Given the description of an element on the screen output the (x, y) to click on. 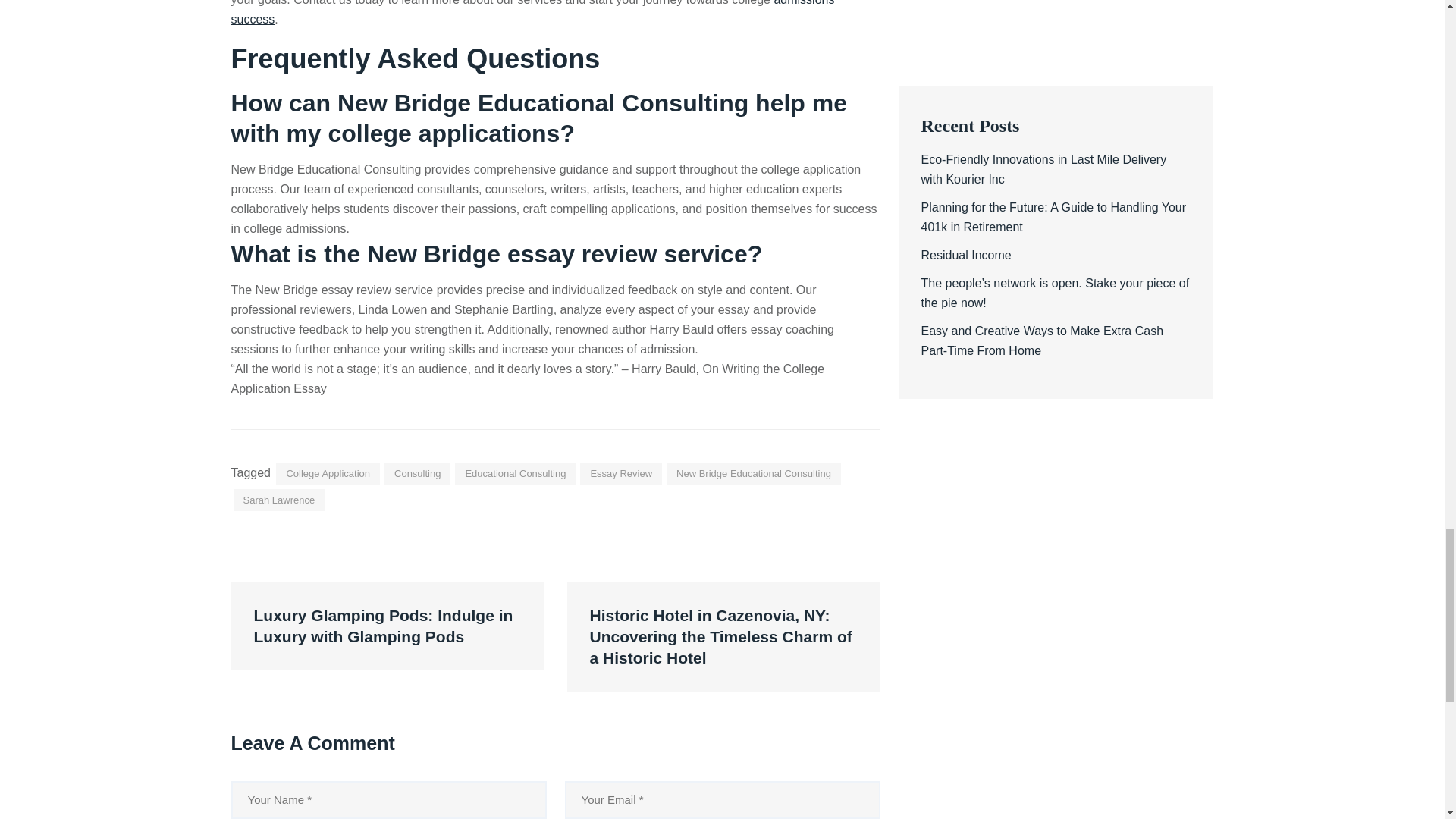
Sarah Lawrence (278, 499)
Essay Review (620, 473)
college applications (444, 133)
Consulting (416, 473)
Luxury Glamping Pods: Indulge in Luxury with Glamping Pods (386, 626)
admissions success (532, 12)
Educational Consulting (514, 473)
College Application (328, 473)
New Bridge Educational Consulting (753, 473)
